Given the description of an element on the screen output the (x, y) to click on. 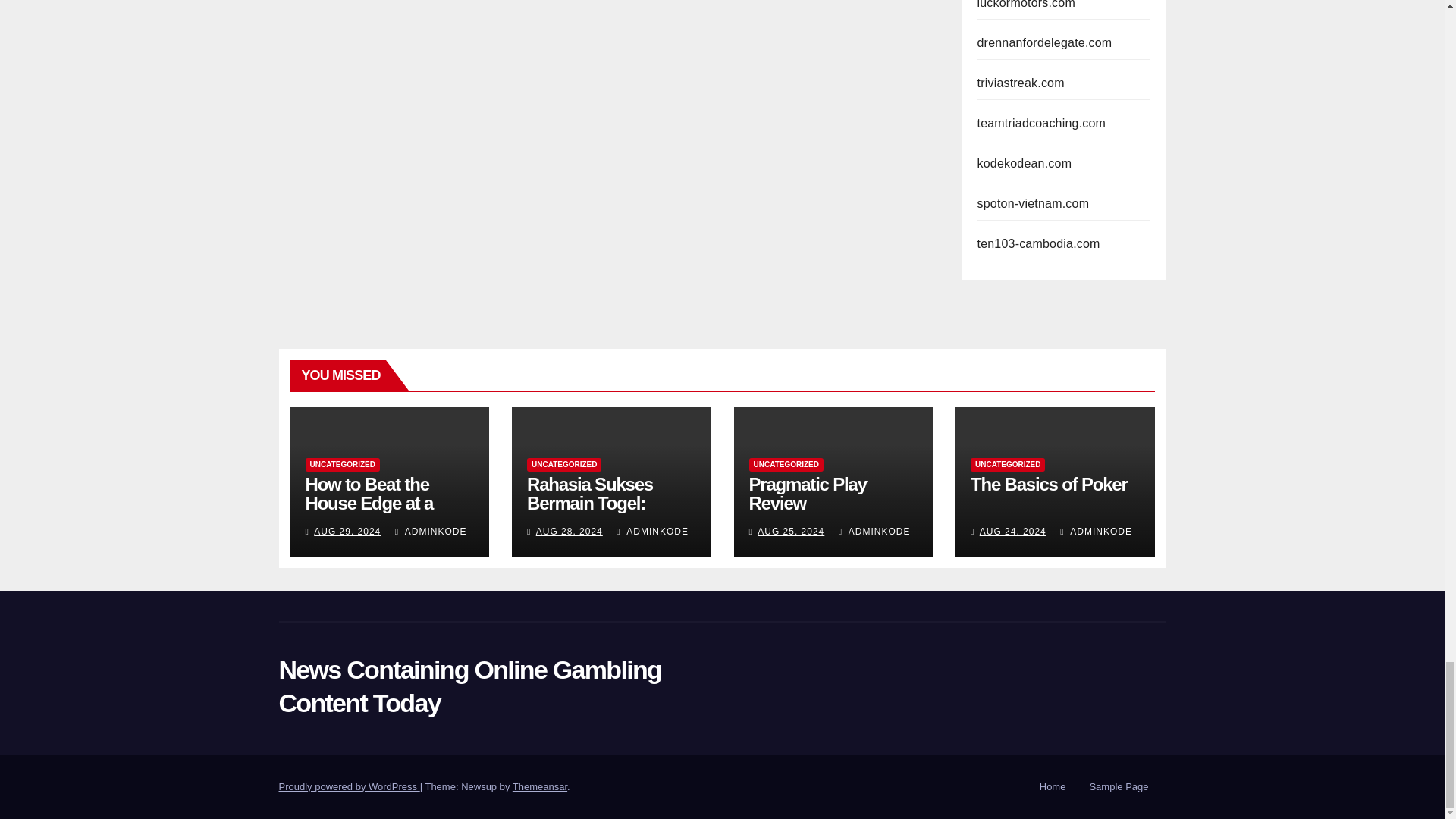
Permalink to: How to Beat the House Edge at a Casino (368, 503)
Permalink to: Pragmatic Play Review (807, 493)
Permalink to: The Basics of Poker (1048, 484)
Home (1052, 786)
